Given the description of an element on the screen output the (x, y) to click on. 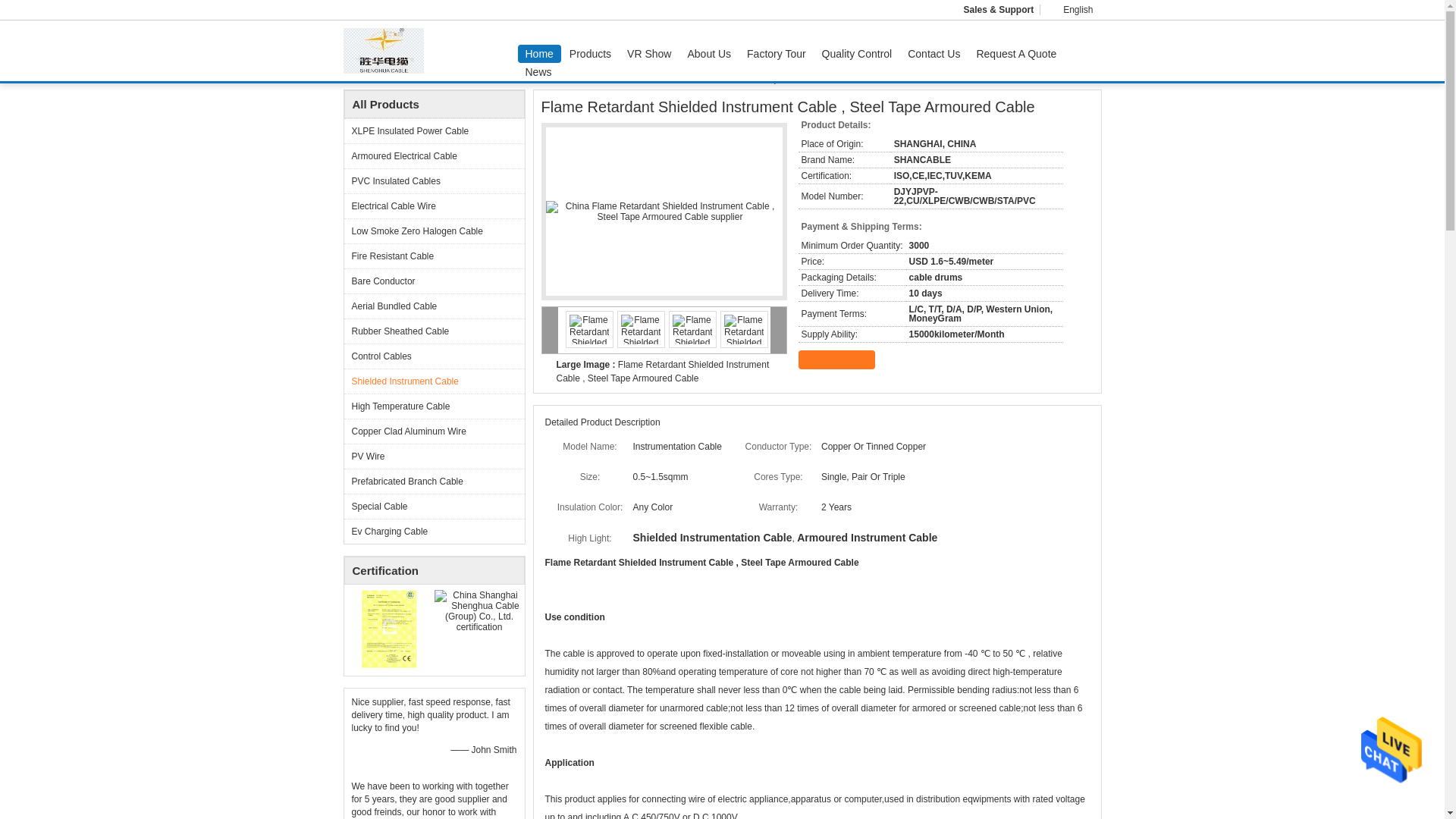
About Us (708, 54)
Quality Control (856, 54)
Contact Us (933, 54)
Armoured Electrical Cable (433, 155)
Products (403, 78)
Request A Quote (1016, 54)
Products (590, 54)
Home (538, 54)
XLPE Insulated Power Cable (433, 130)
Factory Tour (776, 54)
